Given the description of an element on the screen output the (x, y) to click on. 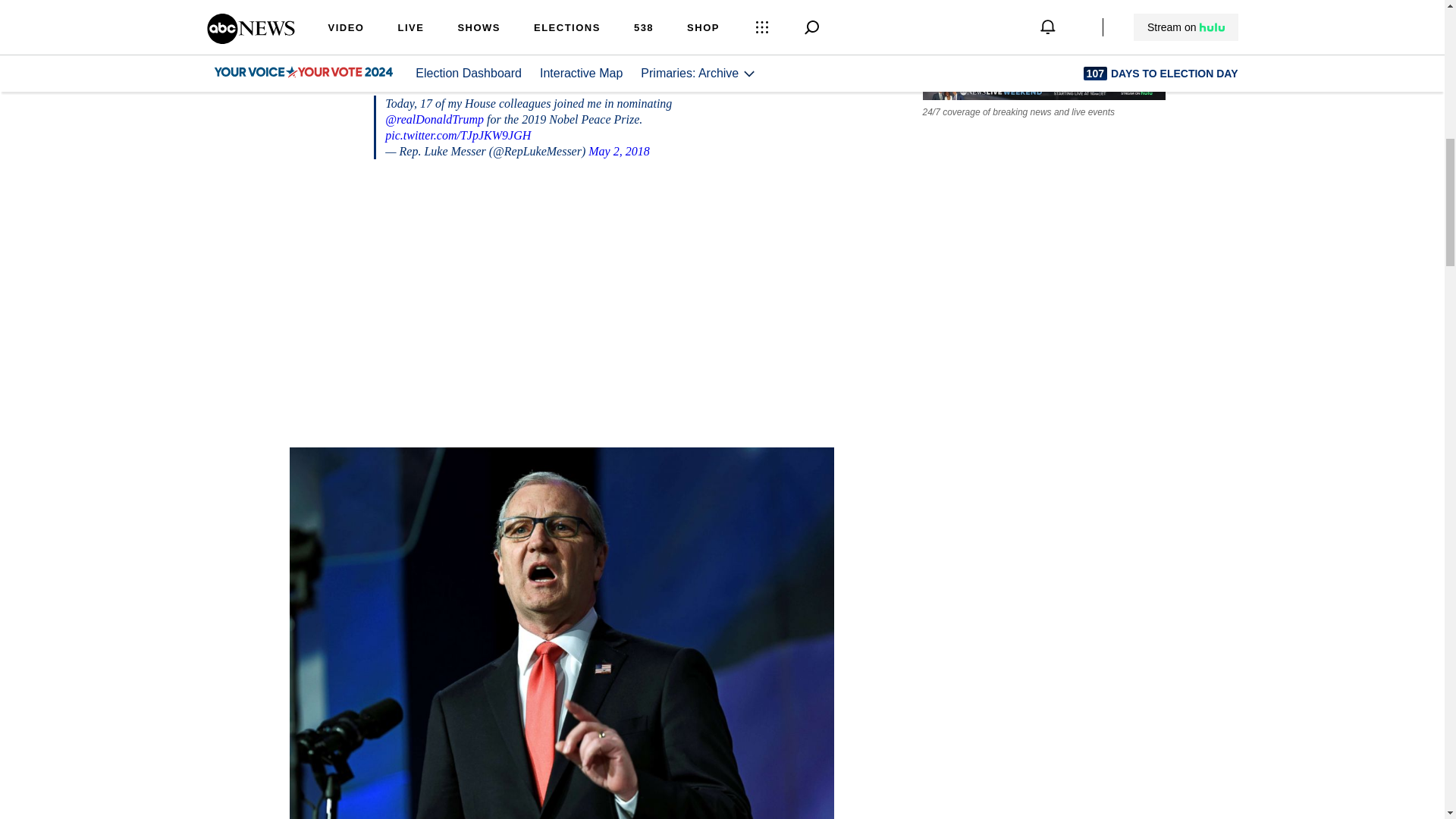
the GOP (442, 6)
May 2, 2018 (618, 151)
